Given the description of an element on the screen output the (x, y) to click on. 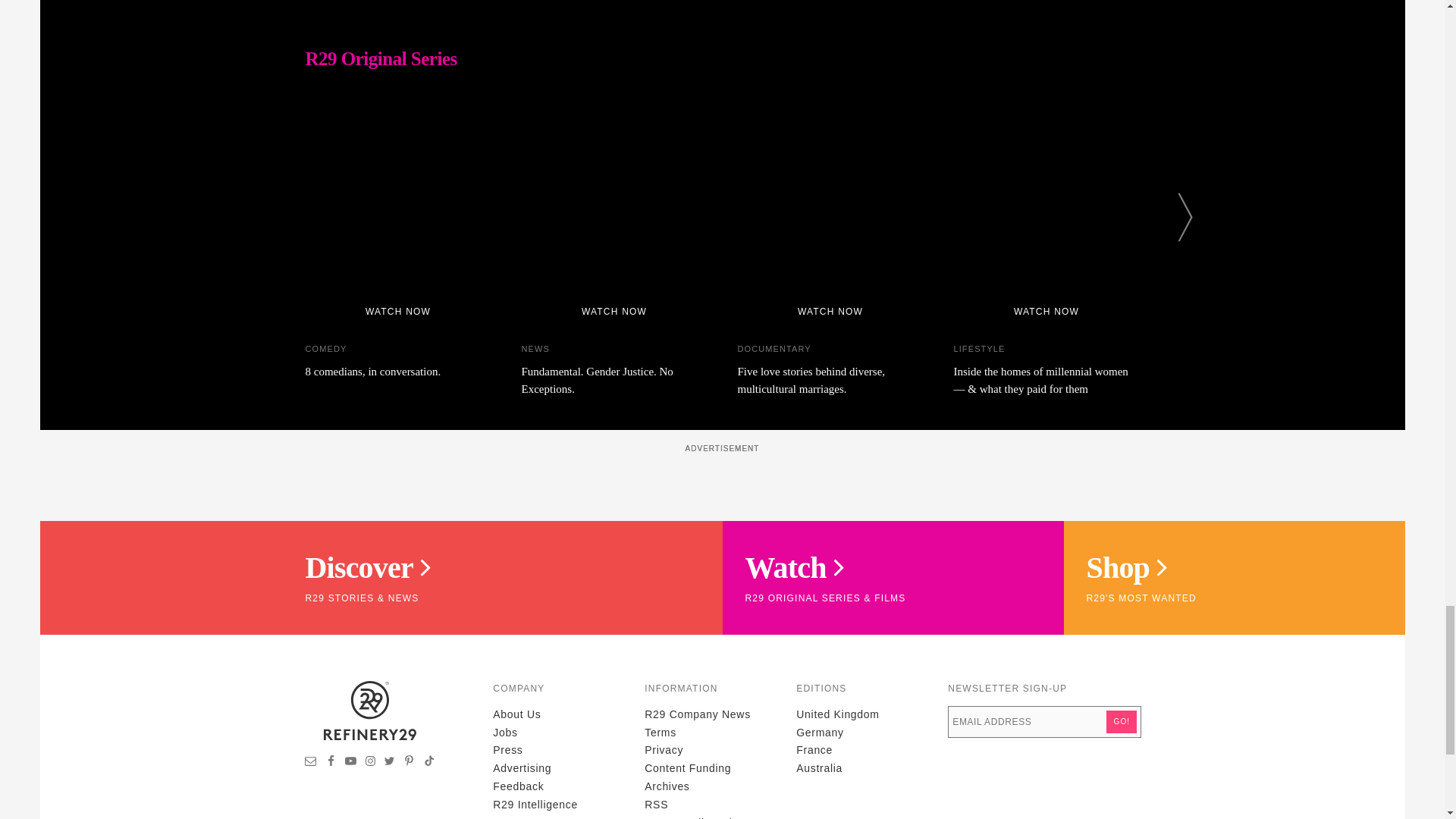
Sign up for newsletters (310, 762)
Visit Refinery29 on TikTok (428, 762)
Visit Refinery29 on YouTube (350, 762)
